Given the description of an element on the screen output the (x, y) to click on. 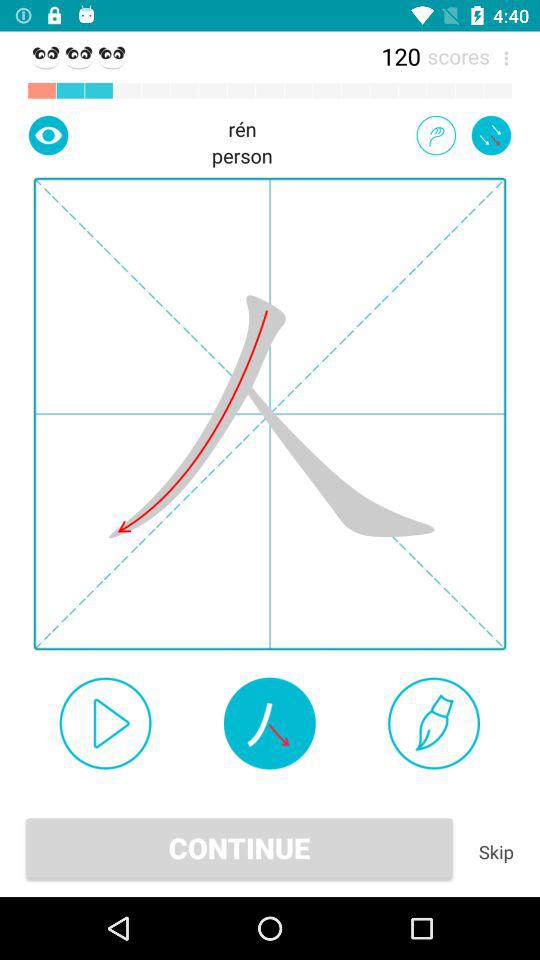
tap the item to the right of person icon (436, 135)
